Given the description of an element on the screen output the (x, y) to click on. 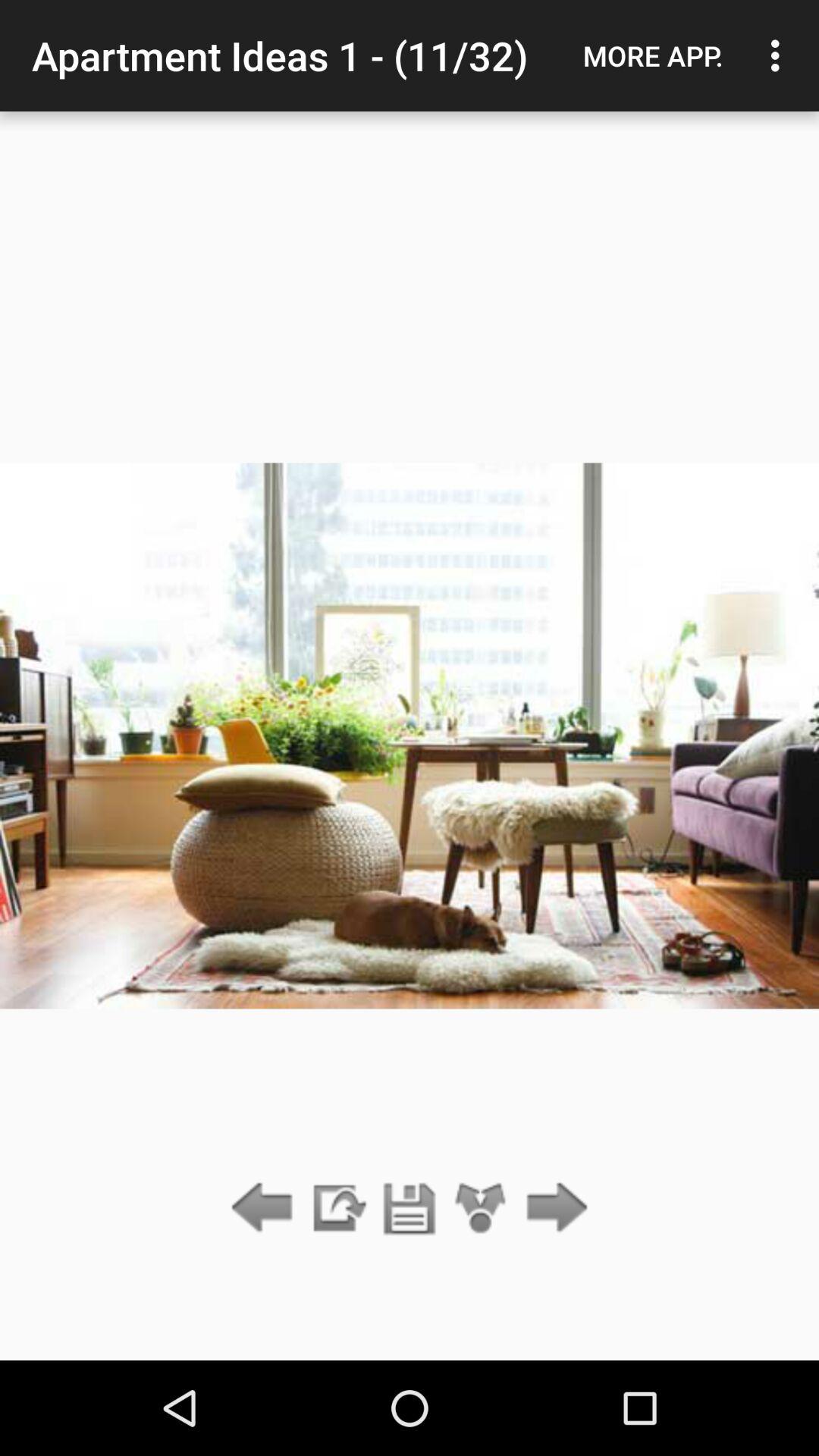
launch the more app. icon (653, 55)
